Given the description of an element on the screen output the (x, y) to click on. 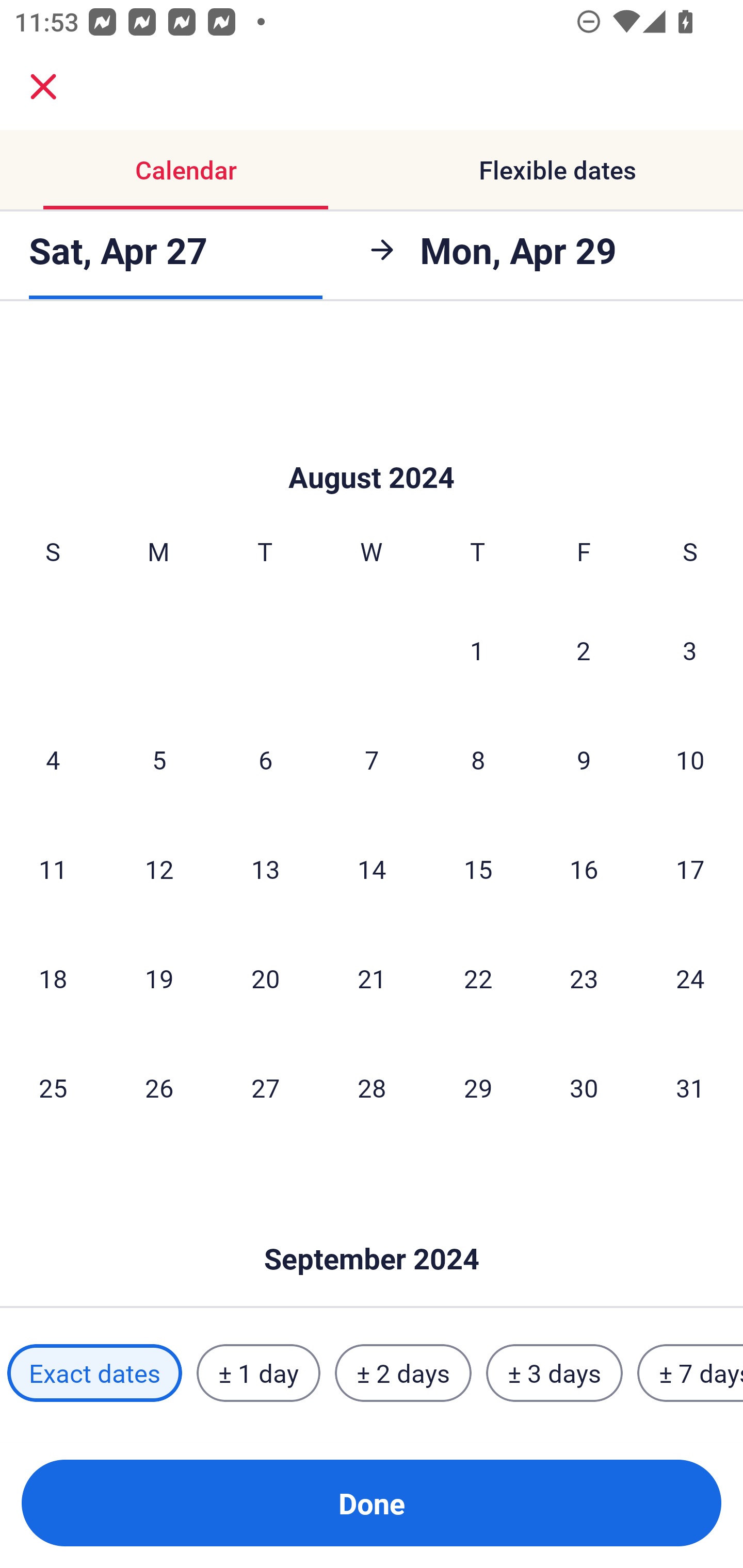
close. (43, 86)
Flexible dates (557, 170)
Skip to Done (371, 445)
1 Thursday, August 1, 2024 (477, 649)
2 Friday, August 2, 2024 (583, 649)
3 Saturday, August 3, 2024 (689, 649)
4 Sunday, August 4, 2024 (53, 759)
5 Monday, August 5, 2024 (159, 759)
6 Tuesday, August 6, 2024 (265, 759)
7 Wednesday, August 7, 2024 (371, 759)
8 Thursday, August 8, 2024 (477, 759)
9 Friday, August 9, 2024 (584, 759)
10 Saturday, August 10, 2024 (690, 759)
11 Sunday, August 11, 2024 (53, 868)
12 Monday, August 12, 2024 (159, 868)
13 Tuesday, August 13, 2024 (265, 868)
14 Wednesday, August 14, 2024 (371, 868)
15 Thursday, August 15, 2024 (477, 868)
16 Friday, August 16, 2024 (584, 868)
17 Saturday, August 17, 2024 (690, 868)
18 Sunday, August 18, 2024 (53, 978)
19 Monday, August 19, 2024 (159, 978)
20 Tuesday, August 20, 2024 (265, 978)
21 Wednesday, August 21, 2024 (371, 978)
22 Thursday, August 22, 2024 (477, 978)
23 Friday, August 23, 2024 (584, 978)
24 Saturday, August 24, 2024 (690, 978)
25 Sunday, August 25, 2024 (53, 1086)
26 Monday, August 26, 2024 (159, 1086)
27 Tuesday, August 27, 2024 (265, 1086)
28 Wednesday, August 28, 2024 (371, 1086)
29 Thursday, August 29, 2024 (477, 1086)
30 Friday, August 30, 2024 (584, 1086)
31 Saturday, August 31, 2024 (690, 1086)
Skip to Done (371, 1228)
Exact dates (94, 1372)
± 1 day (258, 1372)
± 2 days (403, 1372)
± 3 days (553, 1372)
± 7 days (690, 1372)
Done (371, 1502)
